Given the description of an element on the screen output the (x, y) to click on. 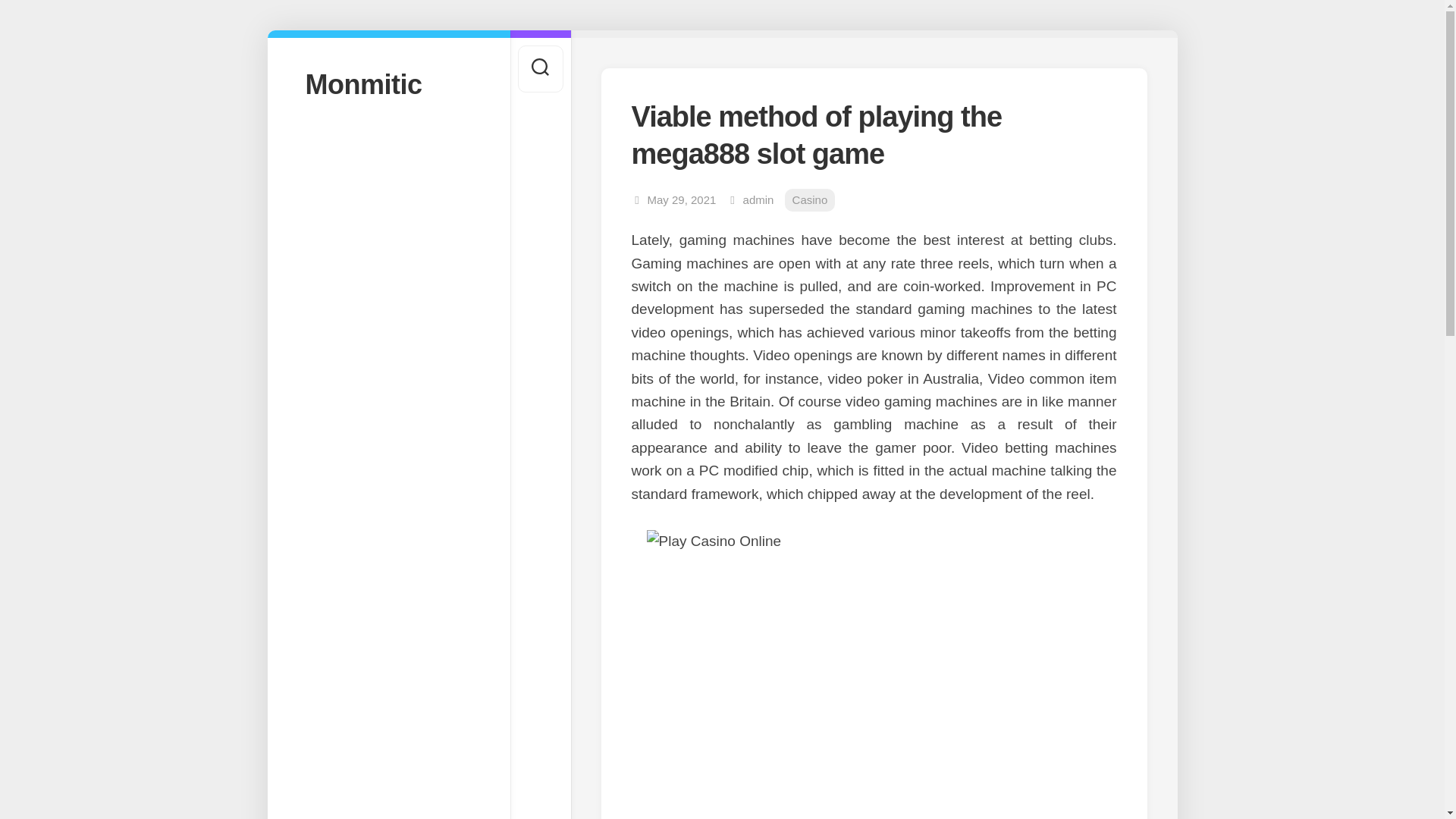
Monmitic (387, 83)
Posts by admin (758, 199)
Casino (809, 200)
admin (758, 199)
